Given the description of an element on the screen output the (x, y) to click on. 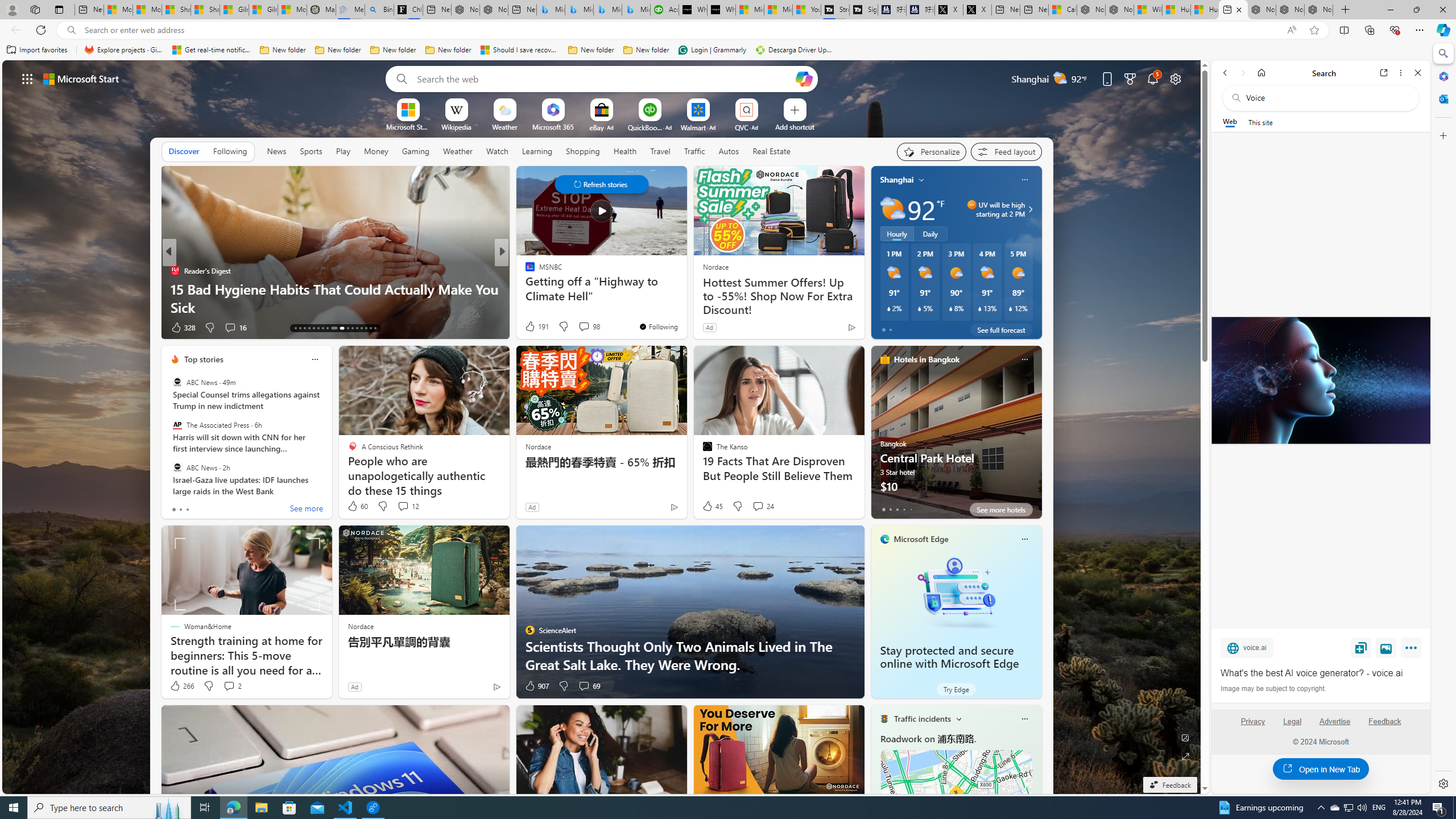
Watch (496, 151)
AutomationID: tab-23 (347, 328)
AutomationID: tab-17 (313, 328)
Start the conversation (572, 327)
Open link in new tab (1383, 72)
191 Like (536, 326)
Travel (660, 151)
hotels-header-icon (884, 358)
See full forecast (1000, 329)
Shopping (582, 151)
View comments 98 Comment (583, 326)
